Given the description of an element on the screen output the (x, y) to click on. 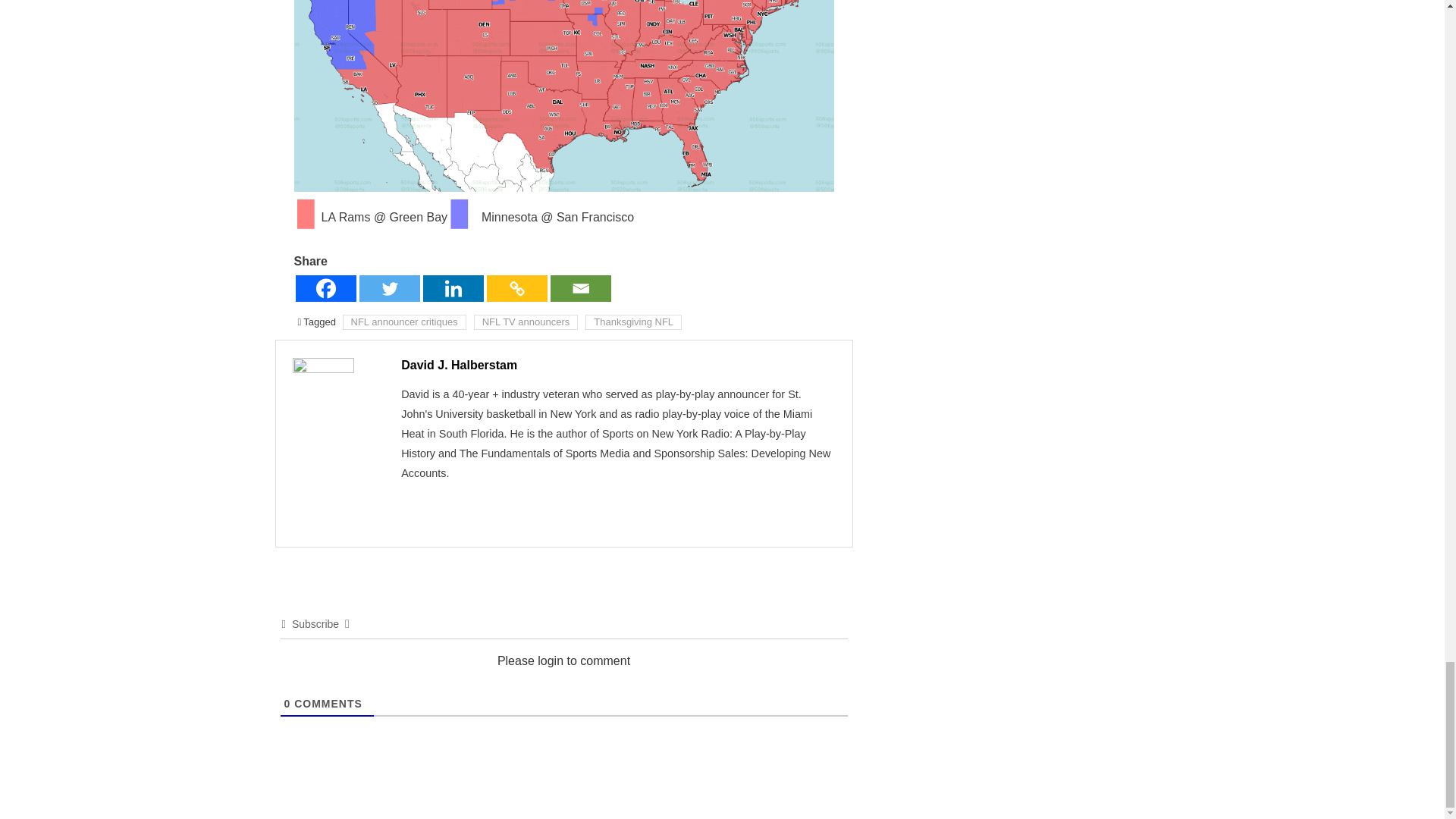
NFL TV announcers (526, 322)
Copy Link (516, 288)
Linkedin (453, 288)
David J. Halberstam (458, 364)
Twitter (389, 288)
Follow me on LinkedIn (817, 513)
NFL announcer critiques (403, 322)
Facebook (325, 288)
Follow me on Twitter (783, 513)
Follow me on Facebook (749, 513)
